Given the description of an element on the screen output the (x, y) to click on. 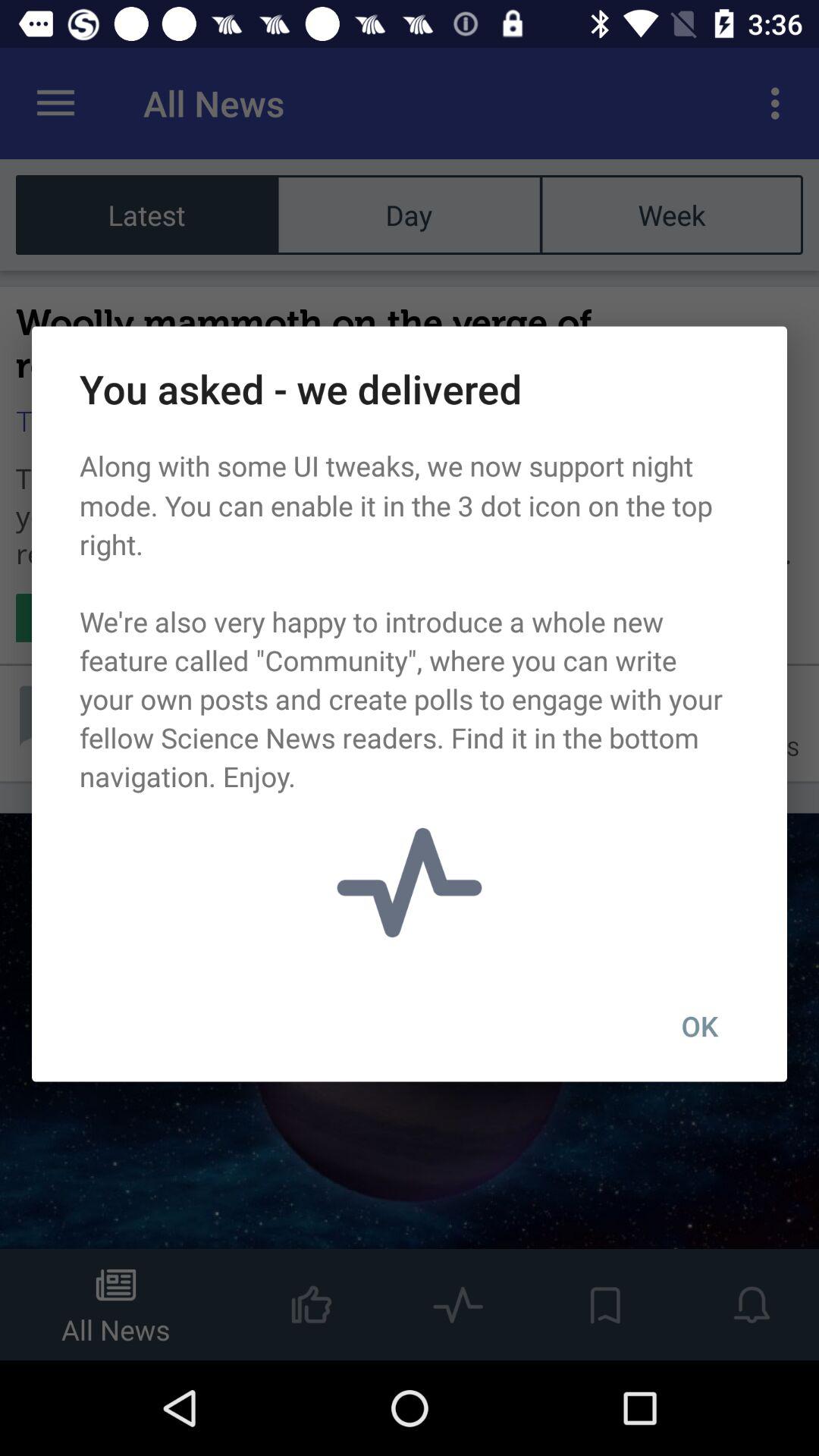
choose item at the bottom right corner (699, 1025)
